Given the description of an element on the screen output the (x, y) to click on. 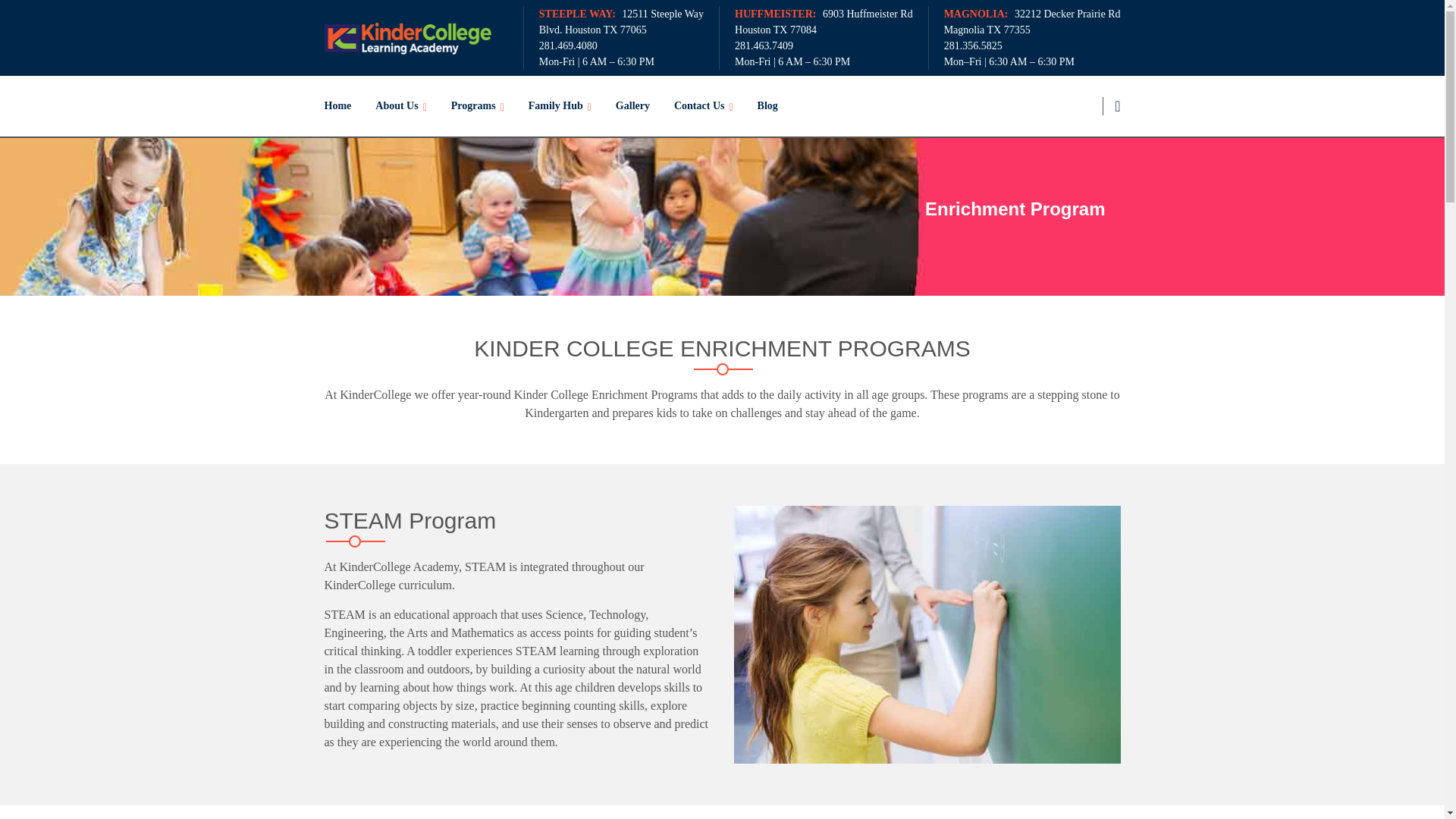
Gallery (633, 106)
Contact Us (703, 106)
About Us (400, 106)
Family Hub (560, 106)
Kinder College Steam Program (927, 634)
Programs (477, 106)
